Given the description of an element on the screen output the (x, y) to click on. 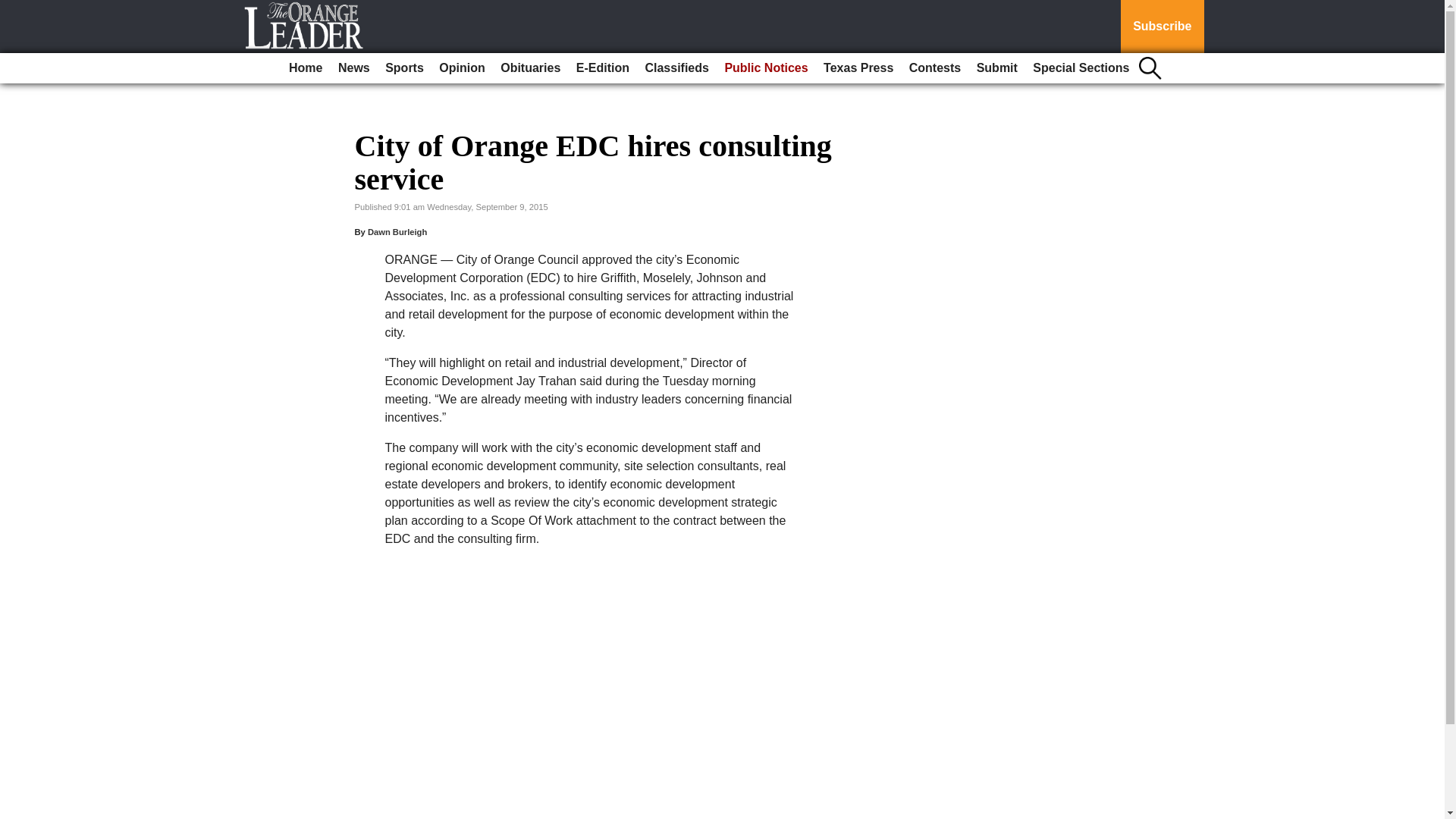
Public Notices (765, 68)
Obituaries (530, 68)
E-Edition (602, 68)
Subscribe (1162, 26)
Classifieds (676, 68)
Go (13, 9)
Sports (403, 68)
Opinion (461, 68)
Dawn Burleigh (397, 231)
Submit (997, 68)
